Given the description of an element on the screen output the (x, y) to click on. 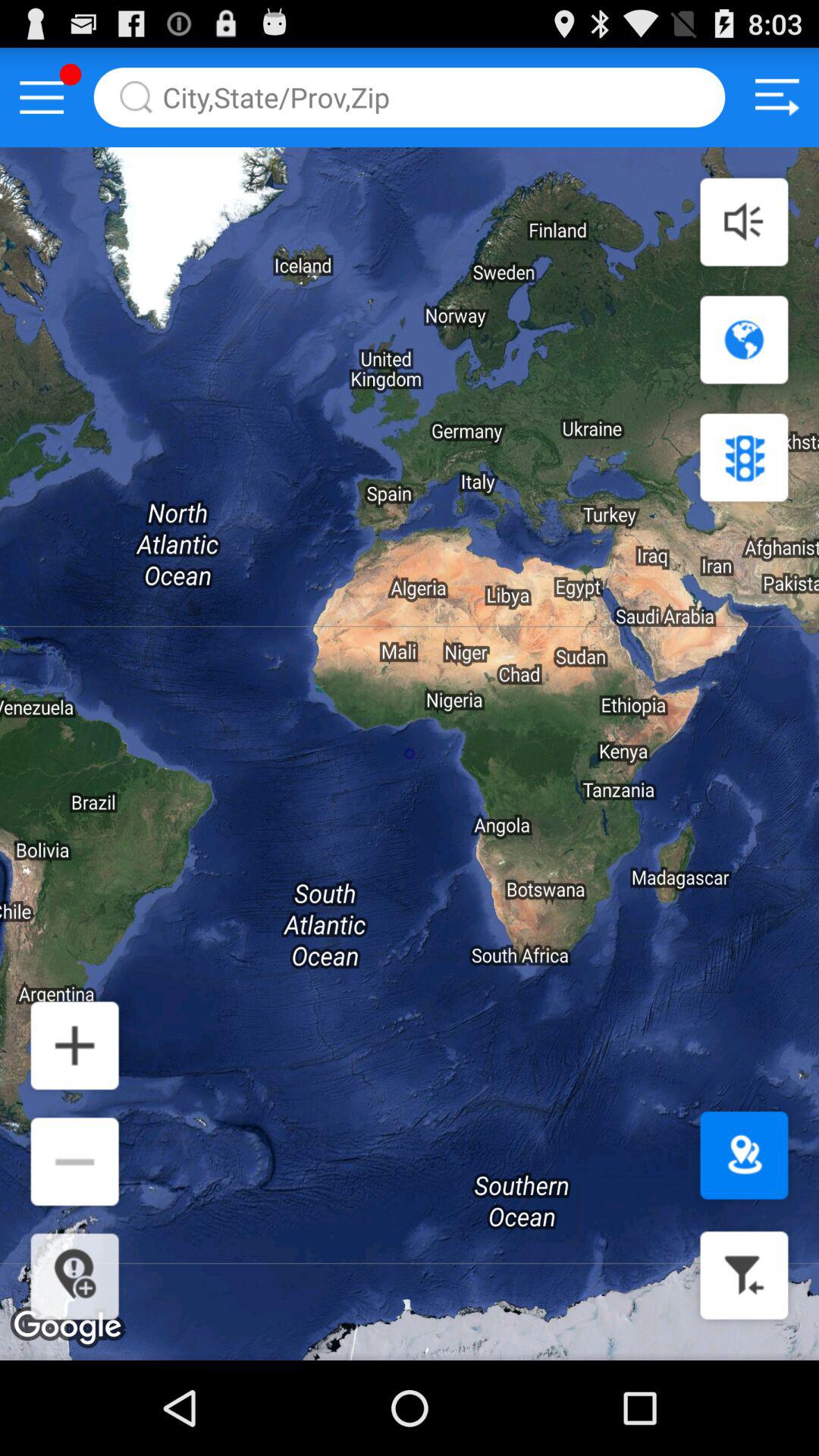
zoom out map (74, 1161)
